Given the description of an element on the screen output the (x, y) to click on. 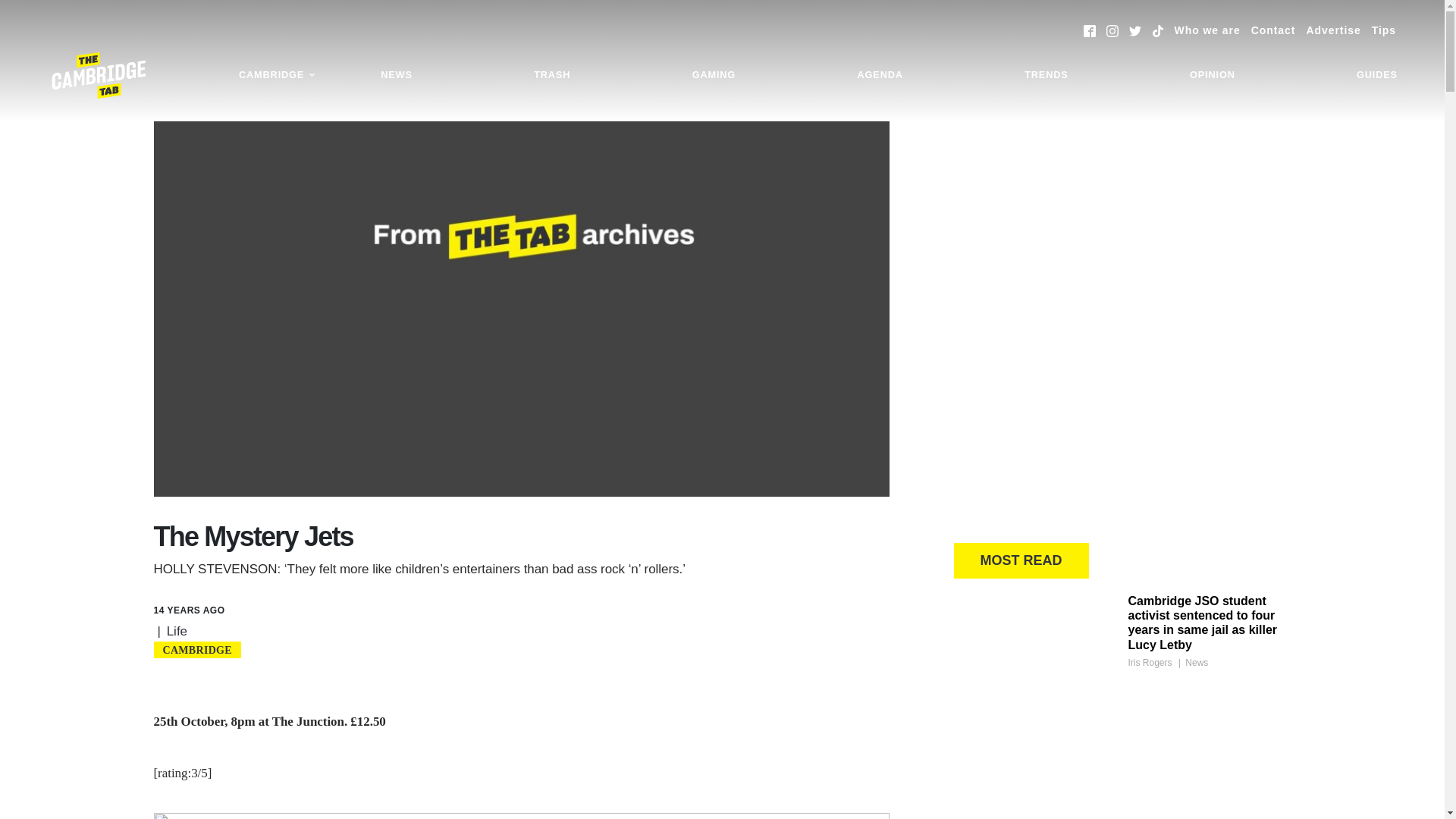
CAMBRIDGE (277, 75)
AGENDA (879, 75)
NEWS (396, 75)
TRENDS (1045, 75)
Contact (1272, 29)
Who we are (1207, 29)
OPINION (1211, 75)
Tips (1383, 29)
GUIDES (1377, 75)
TRASH (551, 75)
Advertise (1332, 29)
GAMING (713, 75)
